Given the description of an element on the screen output the (x, y) to click on. 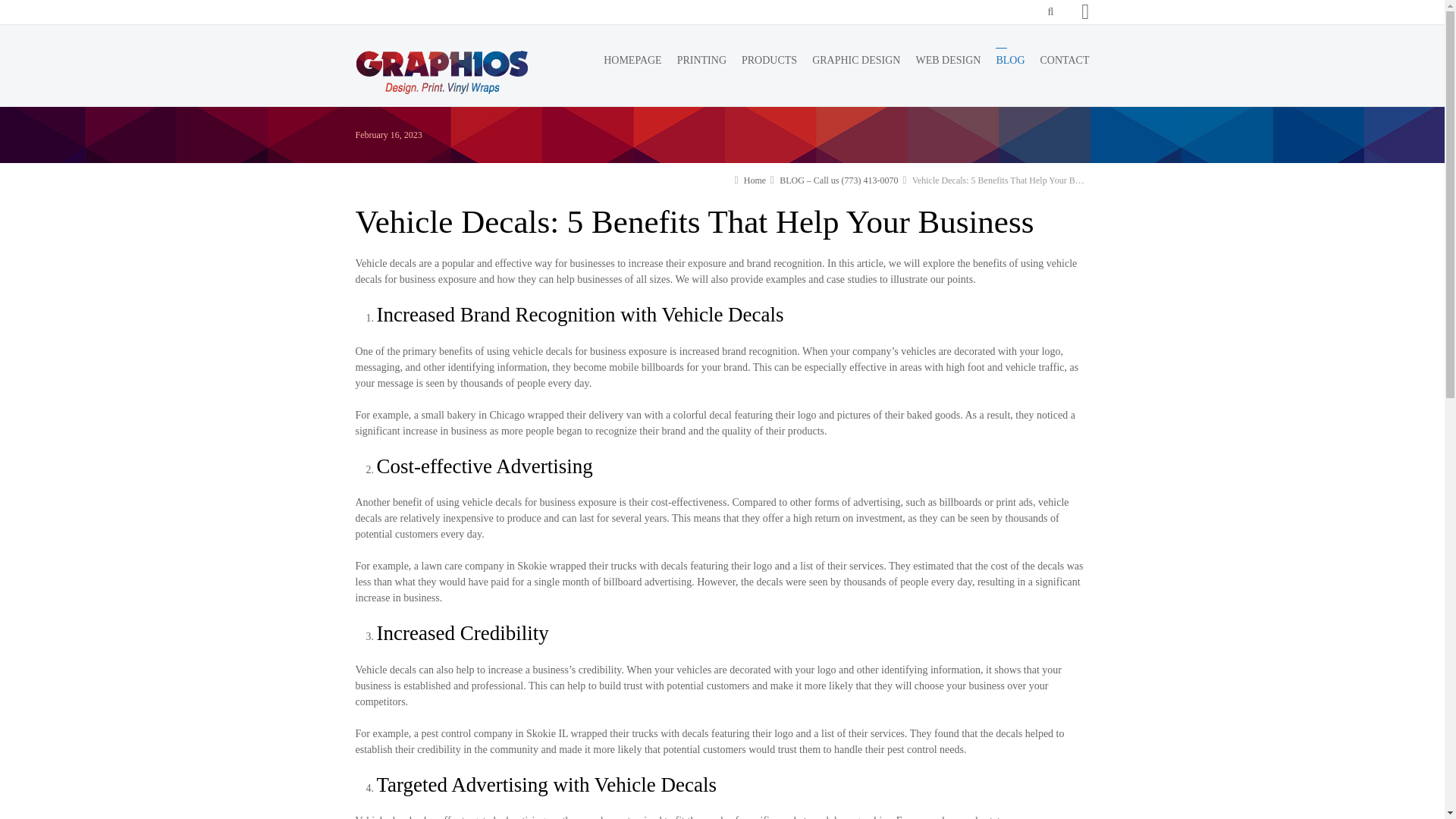
CONTACT (1064, 64)
PRODUCTS (769, 64)
WEB DESIGN (947, 64)
BLOG (1010, 64)
Search (1037, 88)
HOMEPAGE (632, 64)
PRINTING (701, 64)
GRAPHIC DESIGN (856, 64)
Home (754, 180)
Subscribe (21, 6)
Go back to the homepage (441, 71)
